Given the description of an element on the screen output the (x, y) to click on. 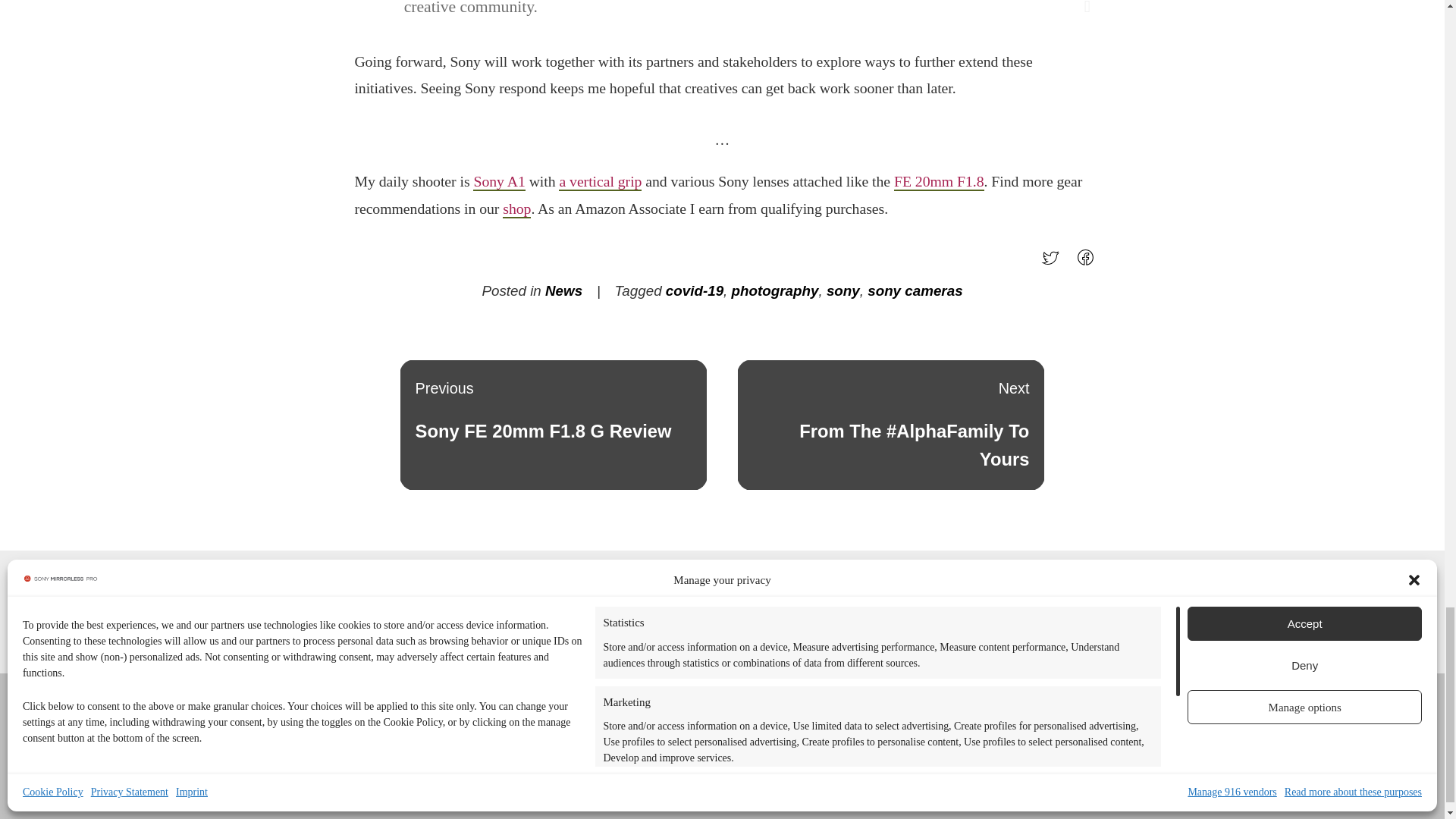
Share on Facebook (1089, 262)
Tweet (1054, 262)
